Given the description of an element on the screen output the (x, y) to click on. 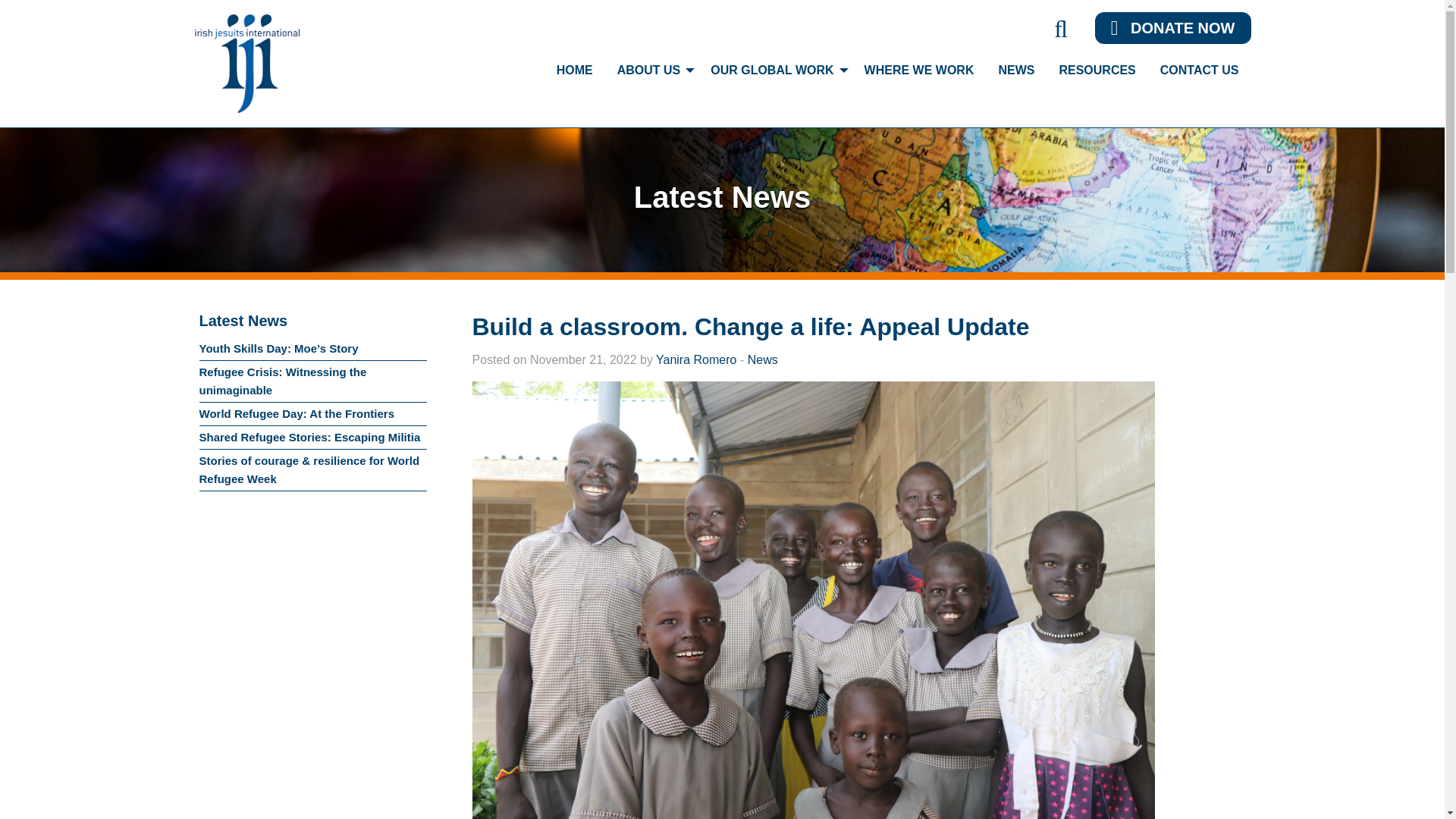
NEWS (1015, 70)
CONTACT US (1199, 70)
Search (1060, 32)
RESOURCES (1096, 70)
OUR GLOBAL WORK (774, 70)
  DONATE NOW (1172, 28)
ABOUT US (651, 70)
WHERE WE WORK (919, 70)
Posts by Yanira Romero (696, 359)
HOME (574, 70)
